Given the description of an element on the screen output the (x, y) to click on. 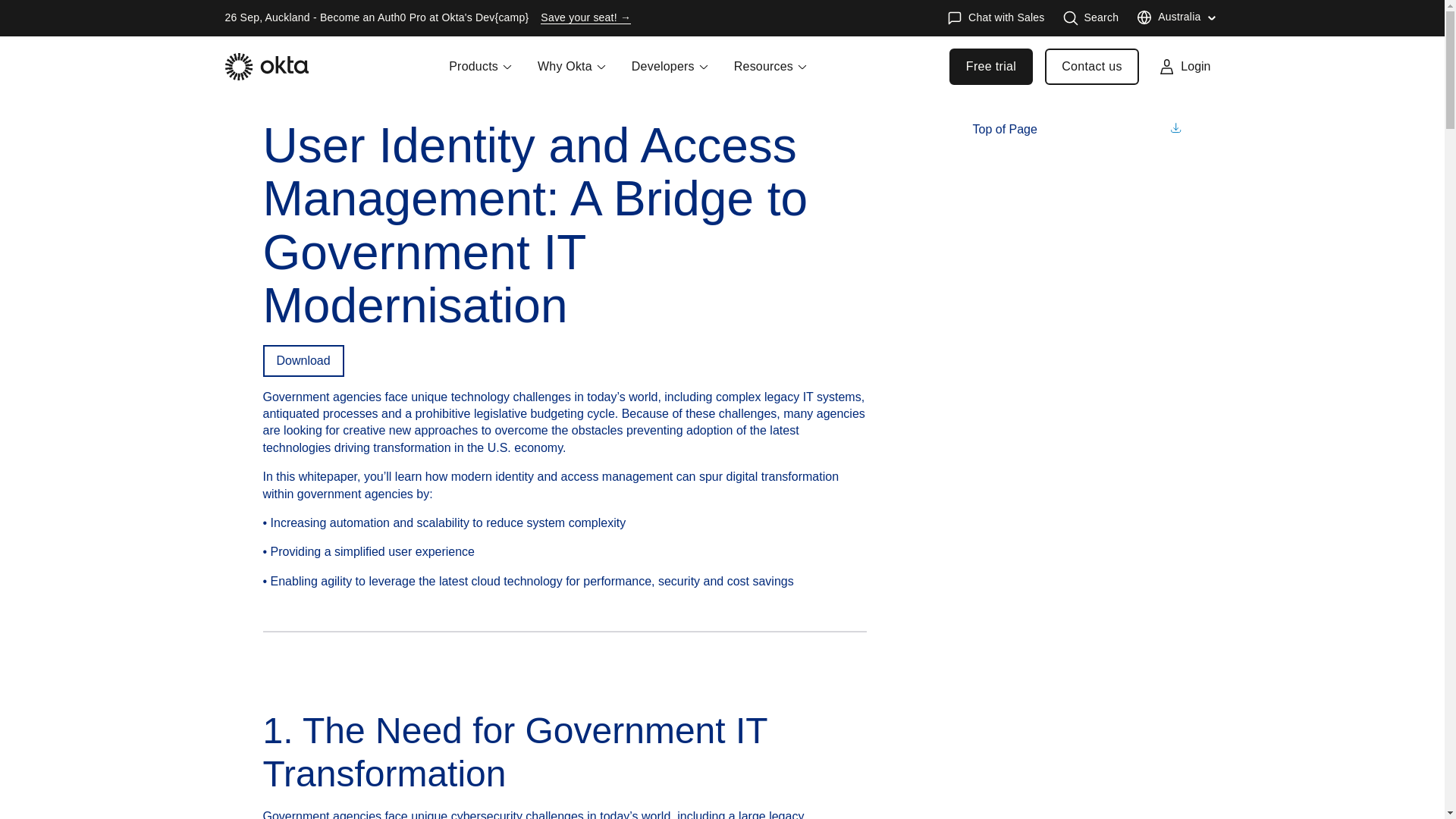
Products (480, 76)
Why Okta (572, 76)
Chat with Sales (995, 18)
Save your seat! (585, 17)
Search (1090, 18)
